Given the description of an element on the screen output the (x, y) to click on. 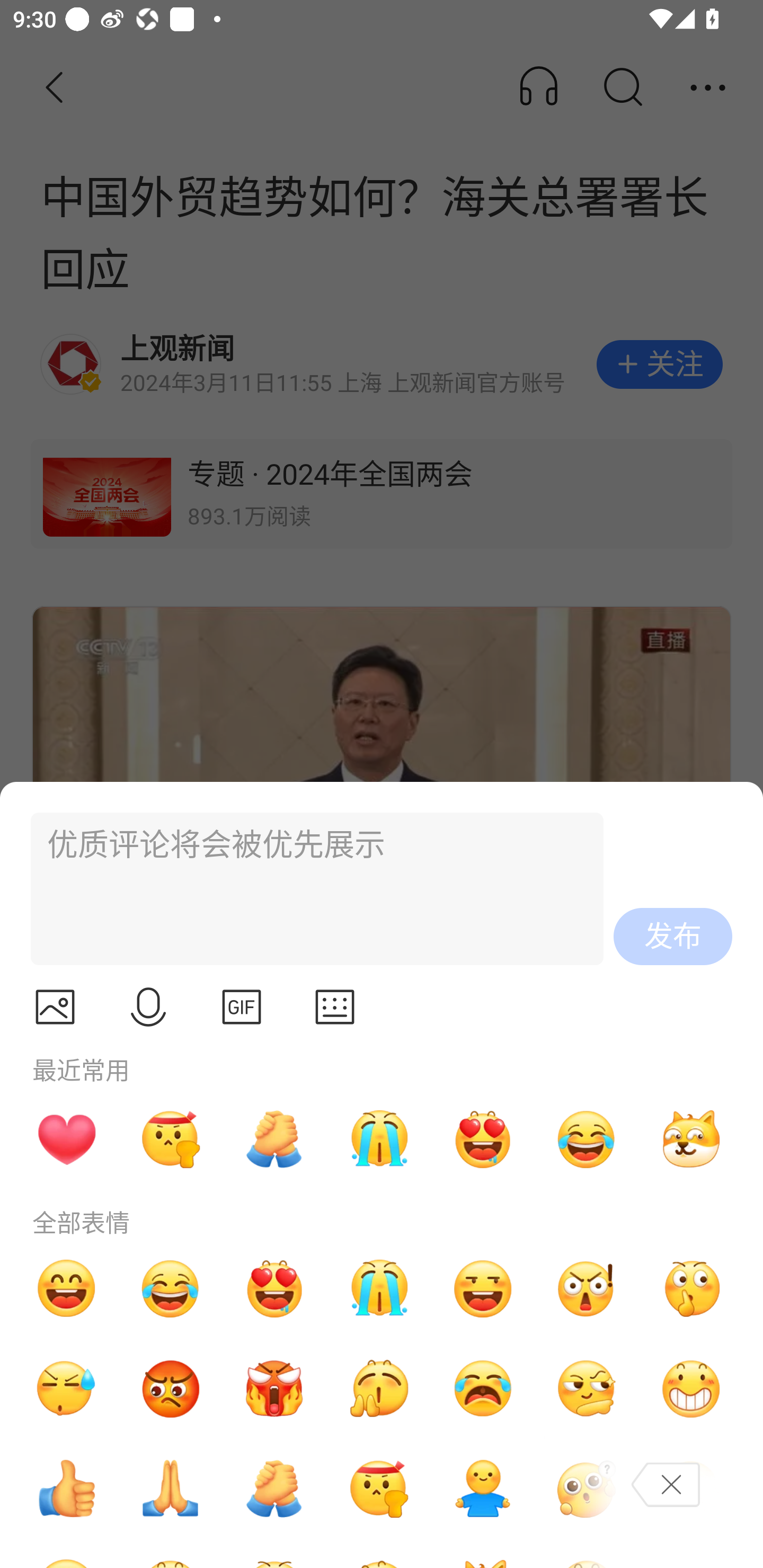
优质评论将会被优先展示 (308, 888)
发布 (672, 936)
 (54, 1007)
 (148, 1007)
 (241, 1007)
 (334, 1007)
心 (66, 1138)
奋斗 (170, 1138)
加油 (274, 1138)
哭 (378, 1138)
喜欢 (482, 1138)
哭笑 (586, 1138)
奸笑 (690, 1138)
哈哈 (66, 1288)
哭笑 (170, 1288)
喜欢 (274, 1288)
哭 (378, 1288)
嘿嘿 (482, 1288)
吃惊 (586, 1288)
嘘 (690, 1288)
汗 (66, 1389)
生气 (170, 1389)
愤怒 (274, 1389)
喝彩 (378, 1389)
抓狂 (482, 1389)
机智 (586, 1389)
坏笑 (690, 1389)
点赞 (66, 1488)
缅怀 (170, 1488)
加油 (274, 1488)
奋斗 (378, 1488)
抱抱 (482, 1488)
疑问 (586, 1488)
捂脸 (690, 1488)
